Given the description of an element on the screen output the (x, y) to click on. 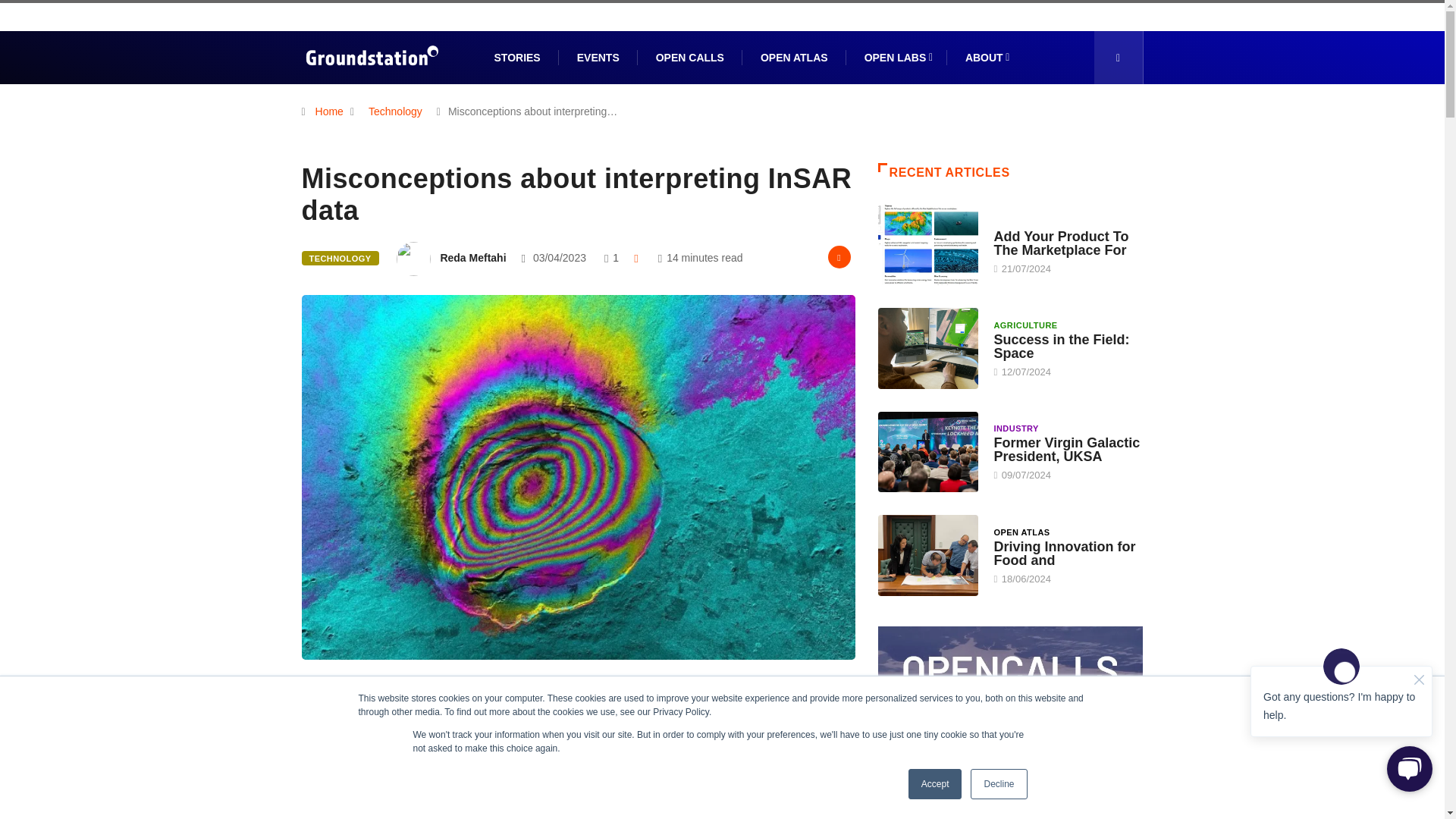
popup modal for search (1117, 57)
OPEN ATLAS (794, 57)
TECHNOLOGY (339, 257)
Success in the Field: Space for Water and Food Security (1060, 346)
Survey Intelligence (547, 700)
Success in the Field: Space for Water and Food Security (927, 347)
OPEN CALLS (689, 57)
Decline (998, 784)
OPEN LABS (896, 57)
Reda Meftahi (472, 257)
